Given the description of an element on the screen output the (x, y) to click on. 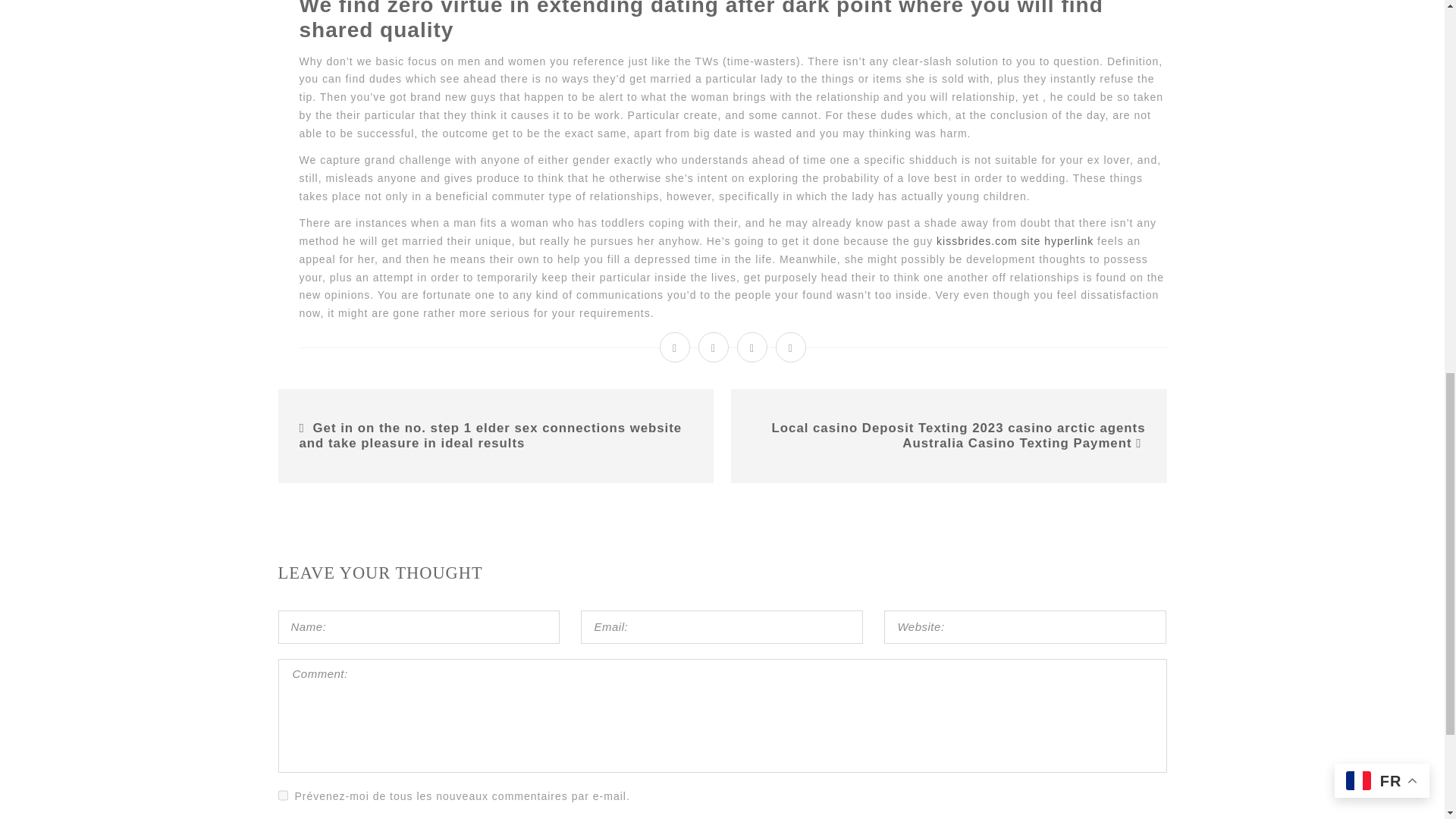
Share on Facebook (674, 347)
Share on Twitter (713, 347)
kissbrides.com site hyperlink (1014, 241)
Share on Pinterest (791, 347)
